Given the description of an element on the screen output the (x, y) to click on. 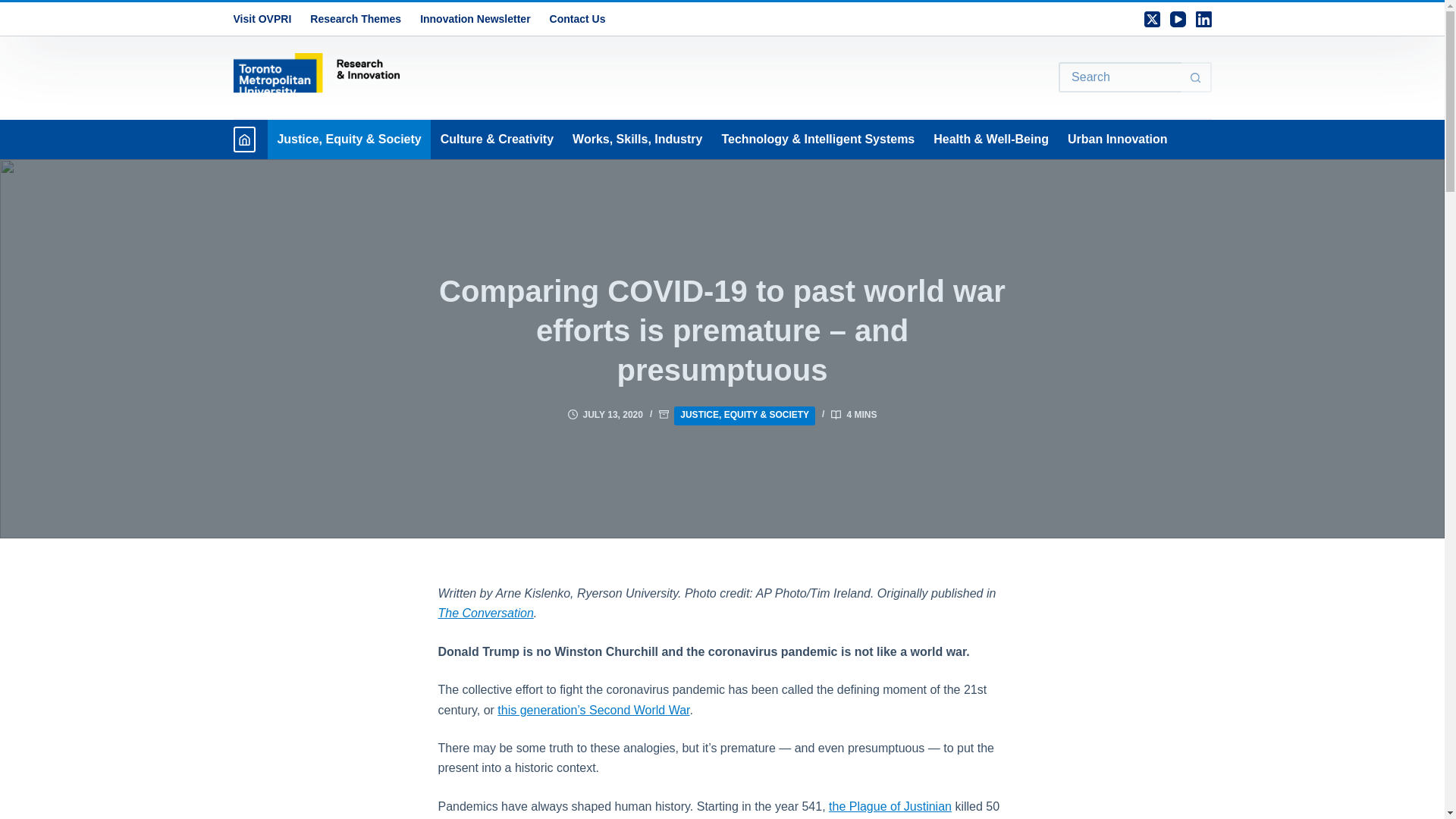
Urban Innovation (1117, 138)
Visit OVPRI (266, 19)
Innovation Newsletter (475, 19)
Skip to content (15, 7)
the Plague of Justinian (890, 806)
Contact Us (577, 19)
Search for... (1119, 77)
Works, Skills, Industry (637, 138)
The Conversation (486, 612)
Research Themes (355, 19)
